Given the description of an element on the screen output the (x, y) to click on. 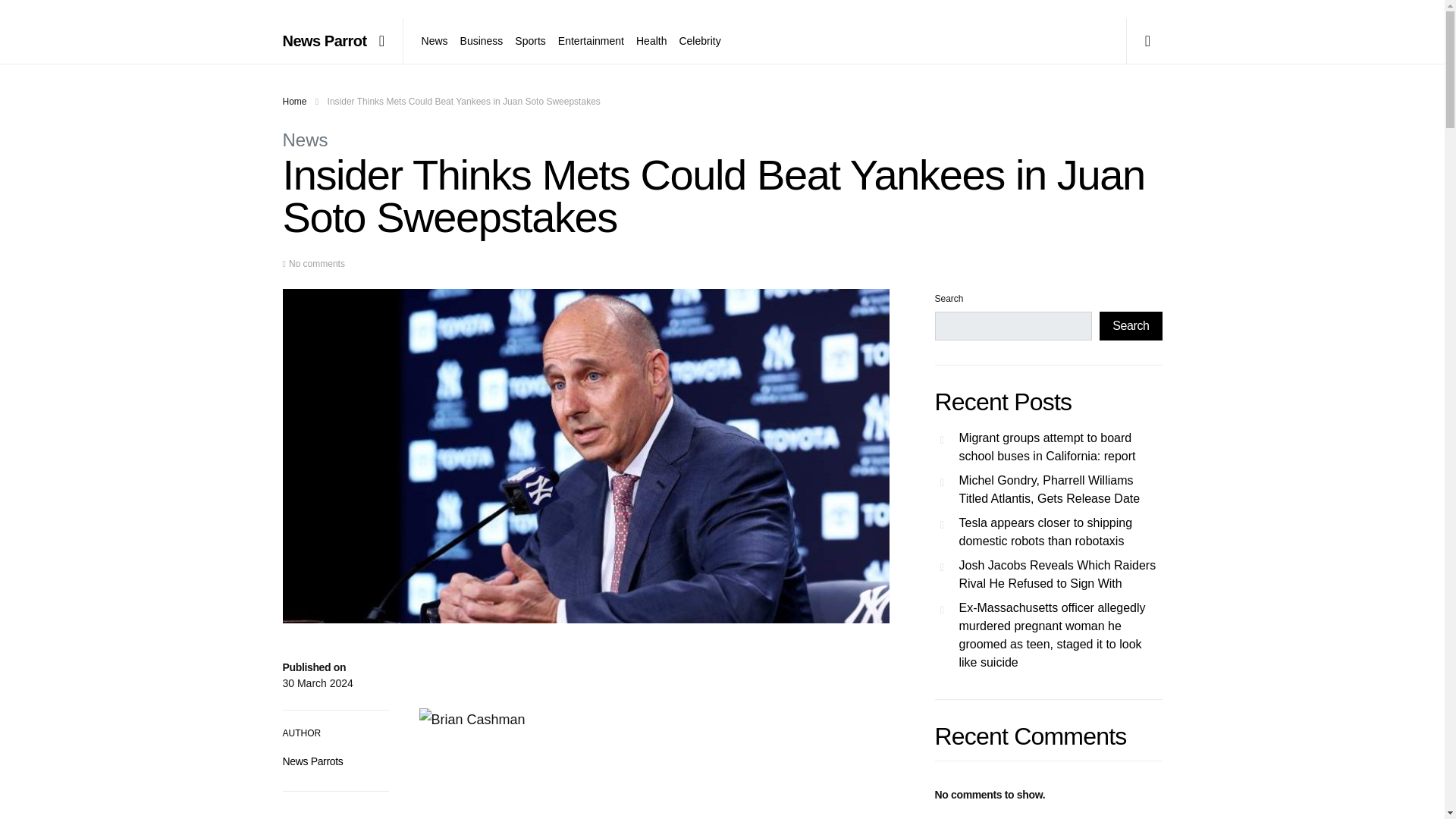
Home (293, 101)
No comments (316, 264)
Entertainment (590, 40)
Sports (529, 40)
Health (651, 40)
News Parrots (312, 761)
Business (481, 40)
News Parrot (324, 40)
News (304, 139)
Celebrity (696, 40)
